Given the description of an element on the screen output the (x, y) to click on. 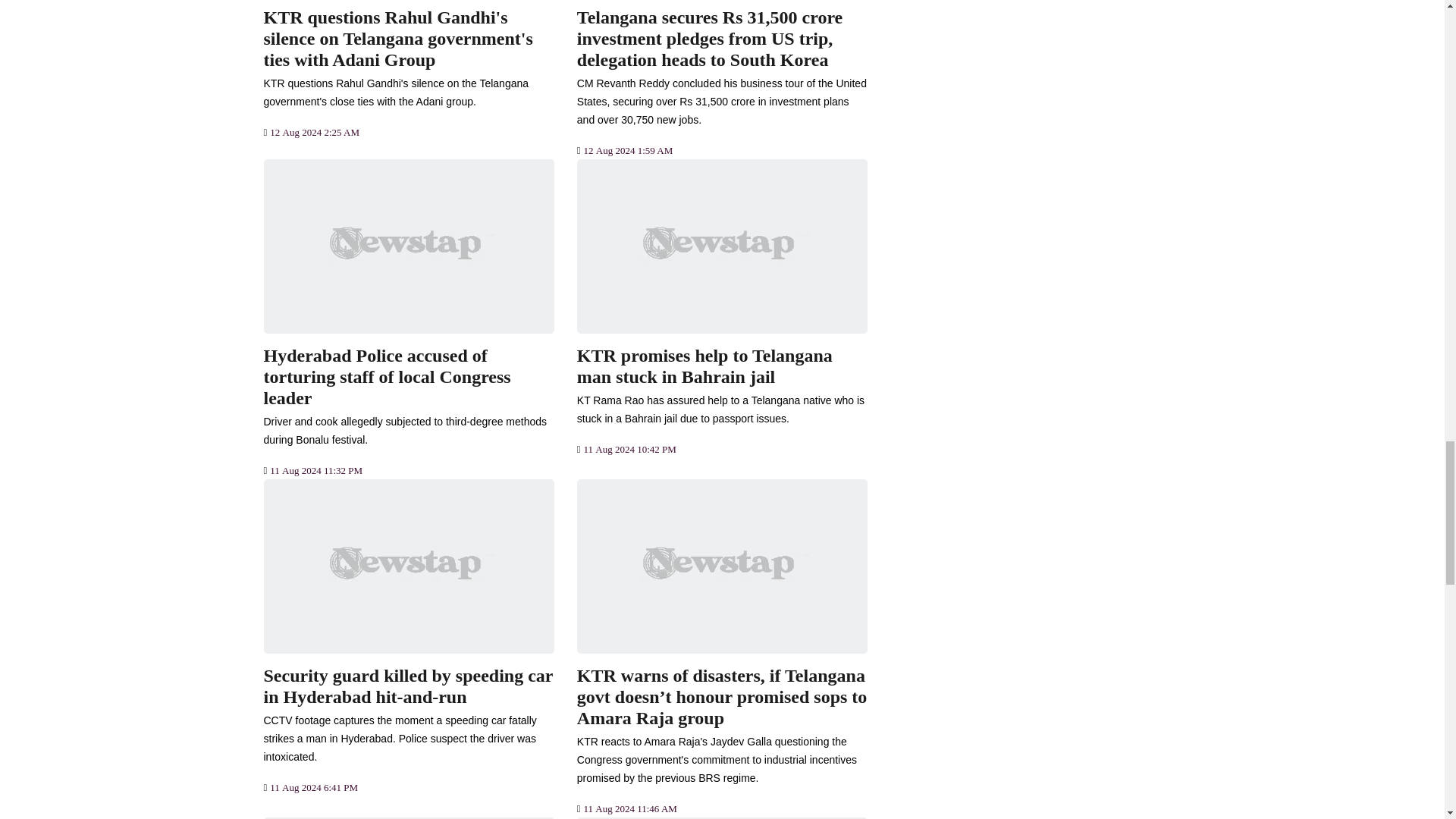
KTR promises help to Telangana man stuck in Bahrain jail (721, 245)
